Given the description of an element on the screen output the (x, y) to click on. 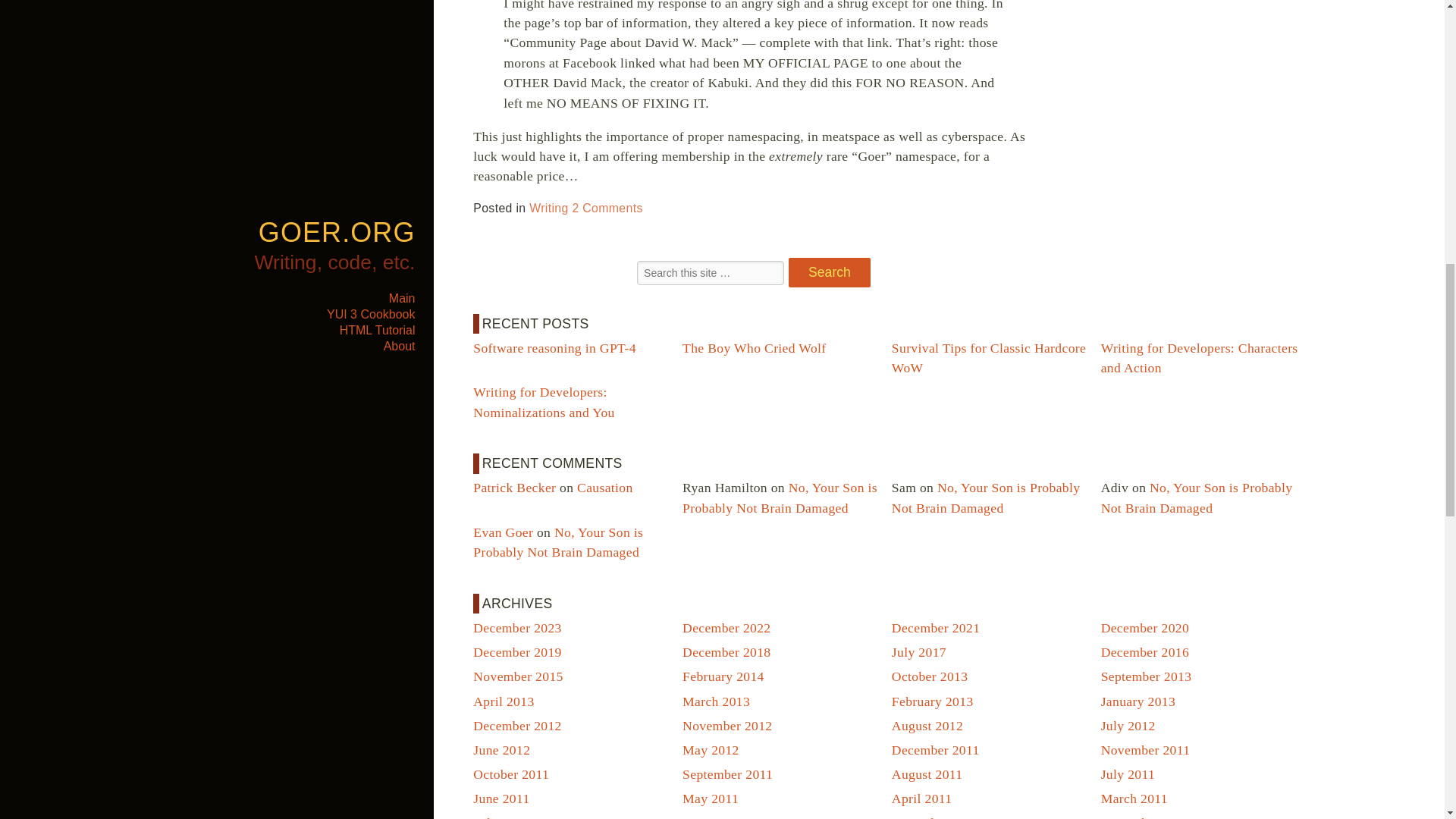
Writing for Developers: Nominalizations and You (543, 401)
Survival Tips for Classic Hardcore WoW (988, 357)
Search (829, 272)
Search (829, 272)
December 2023 (516, 627)
No, Your Son is Probably Not Brain Damaged (1196, 497)
2 Comments (607, 207)
No, Your Son is Probably Not Brain Damaged (558, 541)
Evan Goer (502, 531)
Software reasoning in GPT-4 (554, 347)
Causation (604, 487)
Writing (548, 207)
Patrick Becker (514, 487)
No, Your Son is Probably Not Brain Damaged (779, 497)
Writing for Developers: Characters and Action (1199, 357)
